Given the description of an element on the screen output the (x, y) to click on. 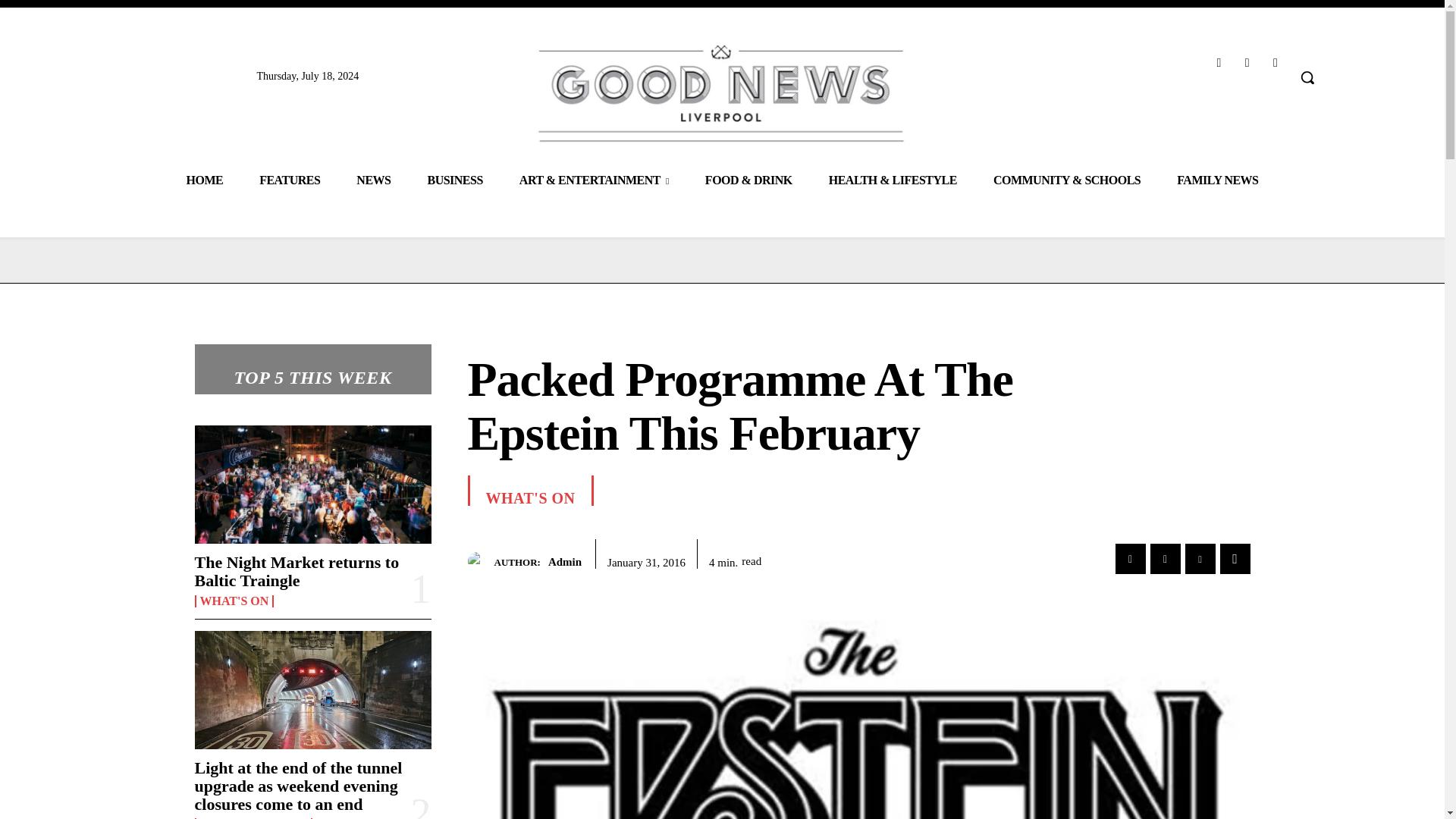
Instagram (1246, 62)
Facebook (1218, 62)
The Night Market returns to Baltic Traingle (311, 484)
FEATURES (289, 179)
HOME (204, 179)
The Night Market returns to Baltic Traingle (295, 570)
BUSINESS (454, 179)
Twitter (1275, 62)
NEWS (373, 179)
